Given the description of an element on the screen output the (x, y) to click on. 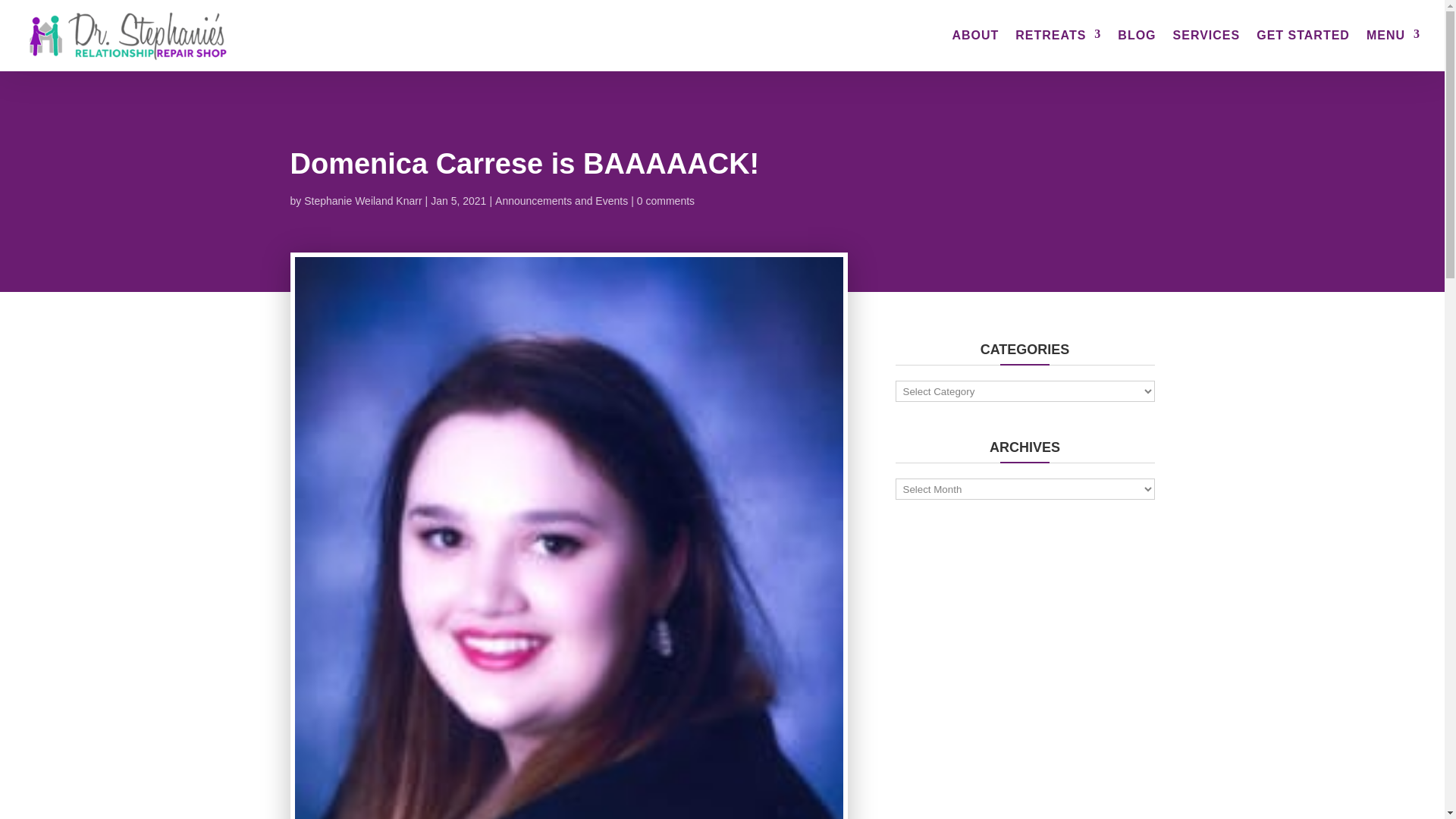
RETREATS (1057, 50)
BLOG (1137, 50)
MENU (1394, 50)
SERVICES (1206, 50)
Posts by Stephanie Weiland Knarr (363, 200)
ABOUT (975, 50)
GET STARTED (1302, 50)
